Given the description of an element on the screen output the (x, y) to click on. 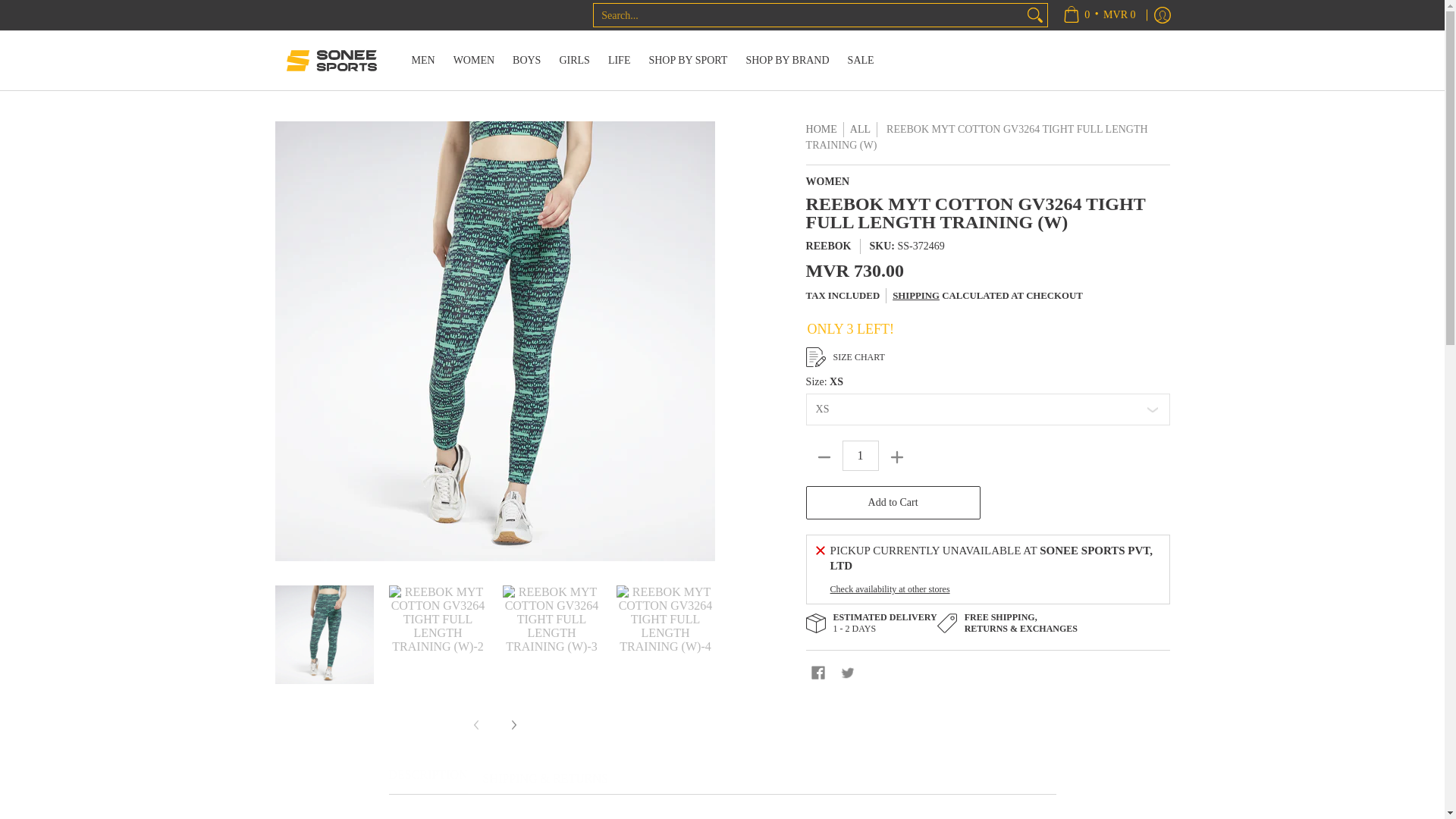
Log in (1161, 15)
Cart (1099, 15)
1 (861, 455)
Sonee Sports (331, 60)
